Given the description of an element on the screen output the (x, y) to click on. 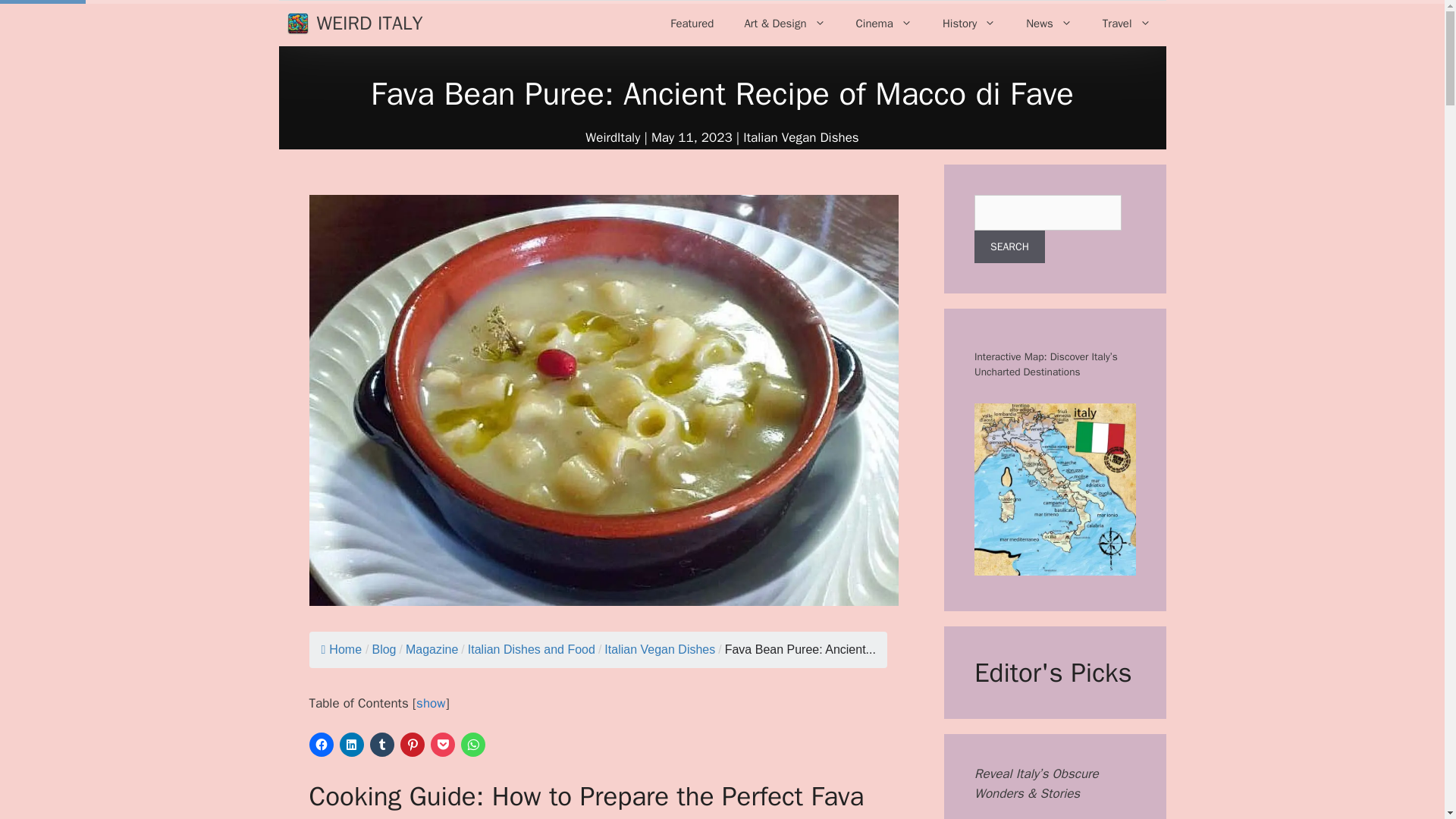
Fava Bean Puree: Ancient Recipe of Macco di Fave (383, 649)
Cinema (884, 22)
Featured (692, 22)
View all posts by WeirdItaly (612, 137)
Fava Bean Puree: Ancient Recipe of Macco di Fave (800, 649)
Italian Vegan Dishes (800, 137)
WeirdItaly (612, 137)
WEIRD ITALY (370, 23)
Italian Vegan Dishes (659, 649)
show (430, 703)
Home (341, 649)
Click to share on Facebook (320, 744)
Category Name (432, 649)
Travel (1126, 22)
Italian Vegan Dishes (659, 649)
